Given the description of an element on the screen output the (x, y) to click on. 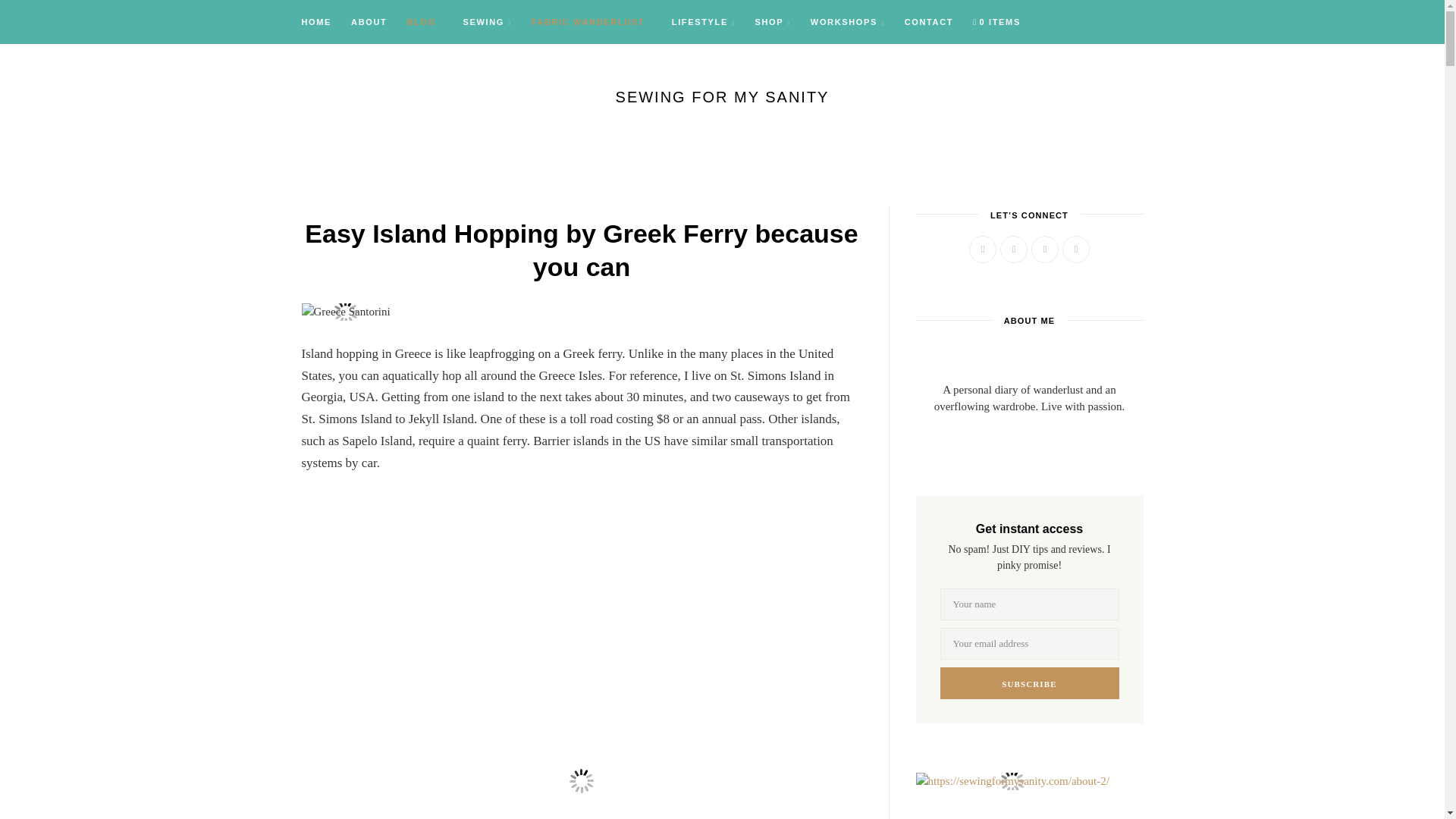
Facebook (982, 248)
ABOUT (368, 22)
BLOG (424, 22)
Twitter (1013, 248)
HOME (321, 22)
Start shopping (996, 22)
Instagram (1044, 248)
FABRIC WANDERLUST (591, 22)
Subscribe (1029, 683)
SEWING (486, 22)
